Given the description of an element on the screen output the (x, y) to click on. 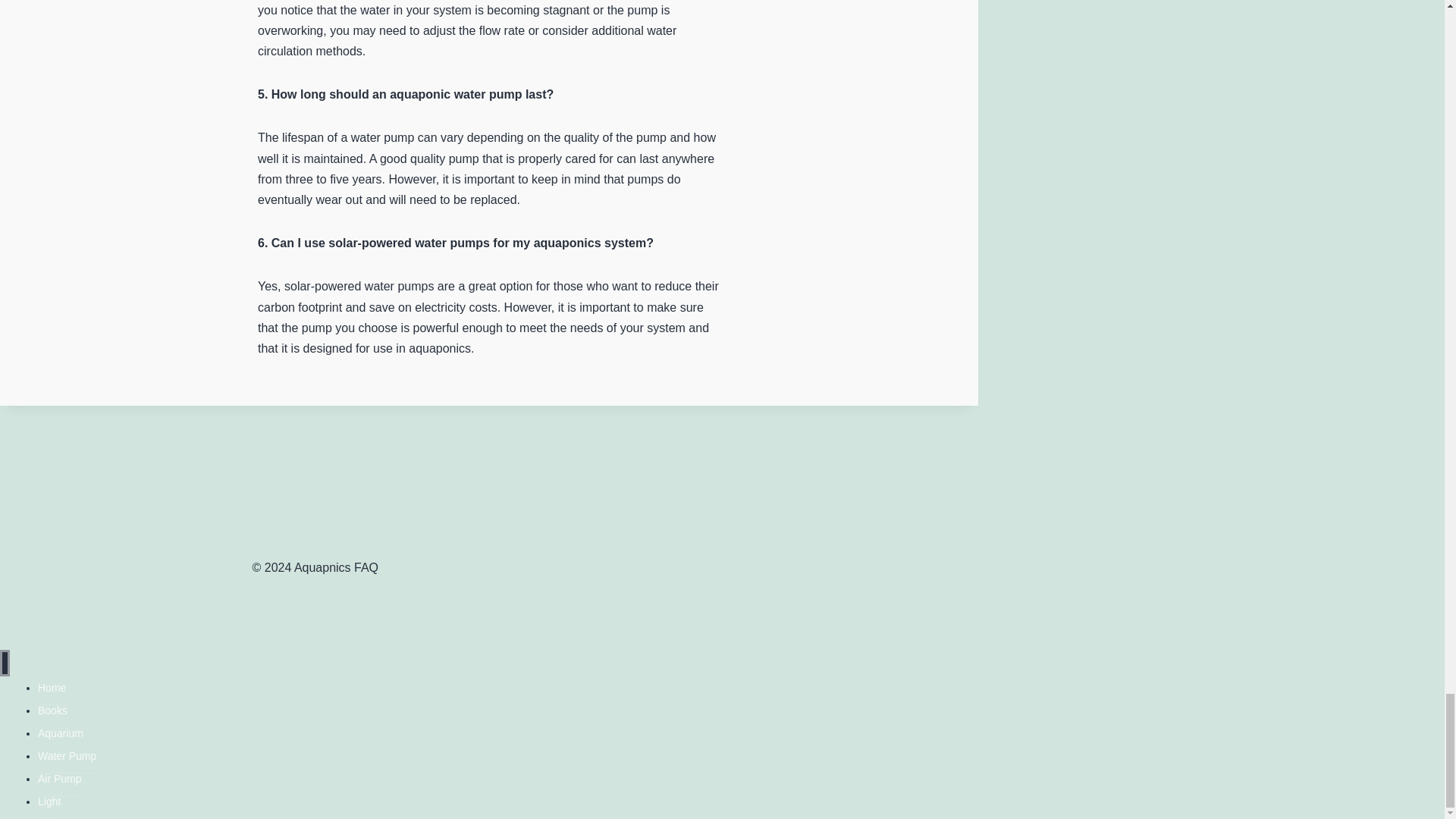
Air Pump (59, 779)
Water Pump (66, 756)
Aquarium (59, 733)
